Given the description of an element on the screen output the (x, y) to click on. 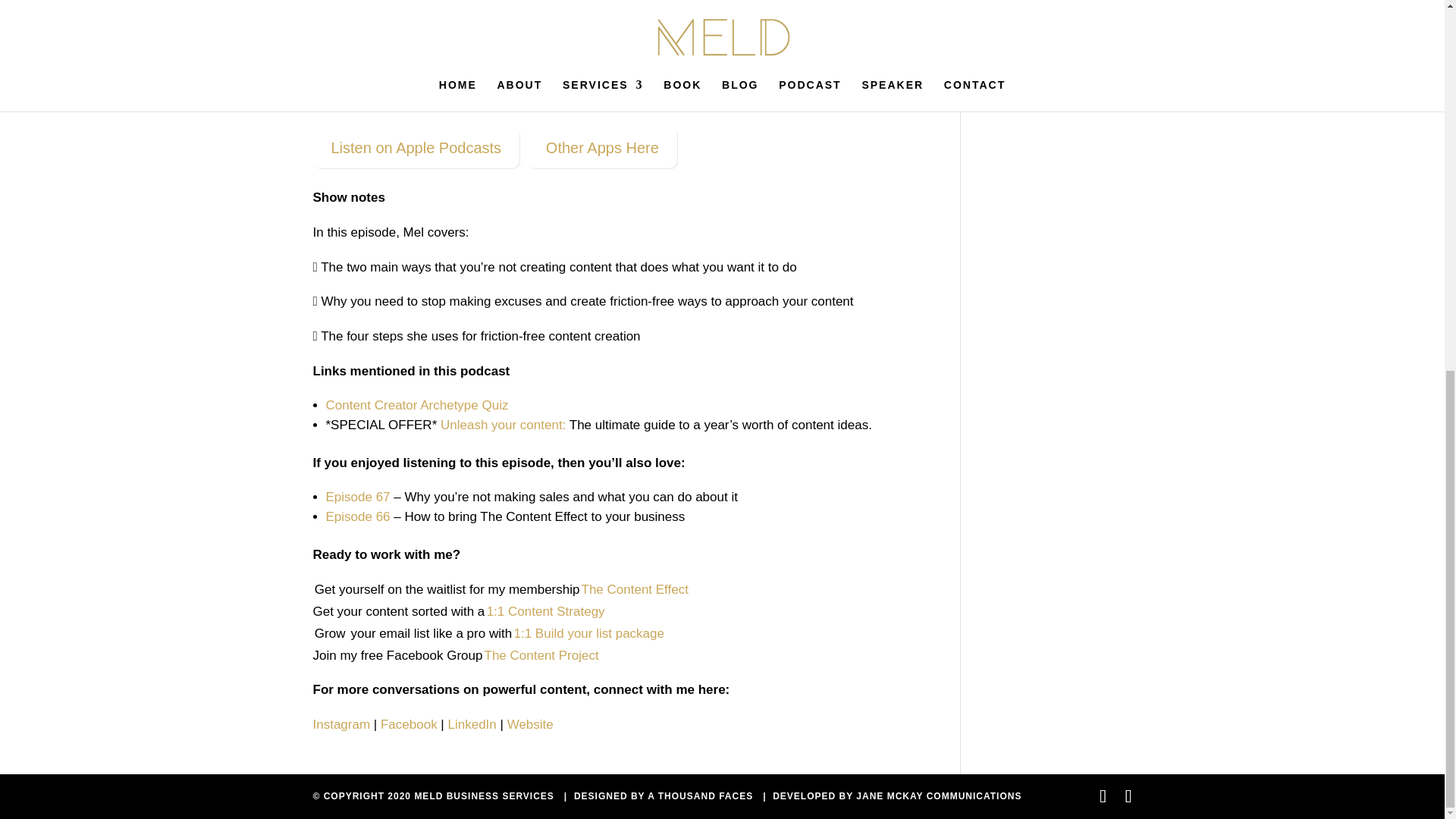
The Content Project (540, 655)
Listen on Apple Podcasts (416, 147)
Facebook (409, 724)
Content Creator Archetype Quiz (417, 405)
Unleash your content: (503, 424)
1:1 Content Strategy (545, 611)
LinkedIn (472, 724)
Website (529, 724)
Instagram (341, 724)
Other Apps Here (602, 147)
1:1 Build your list package (588, 633)
Email Marketing (1057, 3)
Episode 67 (358, 496)
Episode 66 (358, 516)
The Content Effect (633, 589)
